Given the description of an element on the screen output the (x, y) to click on. 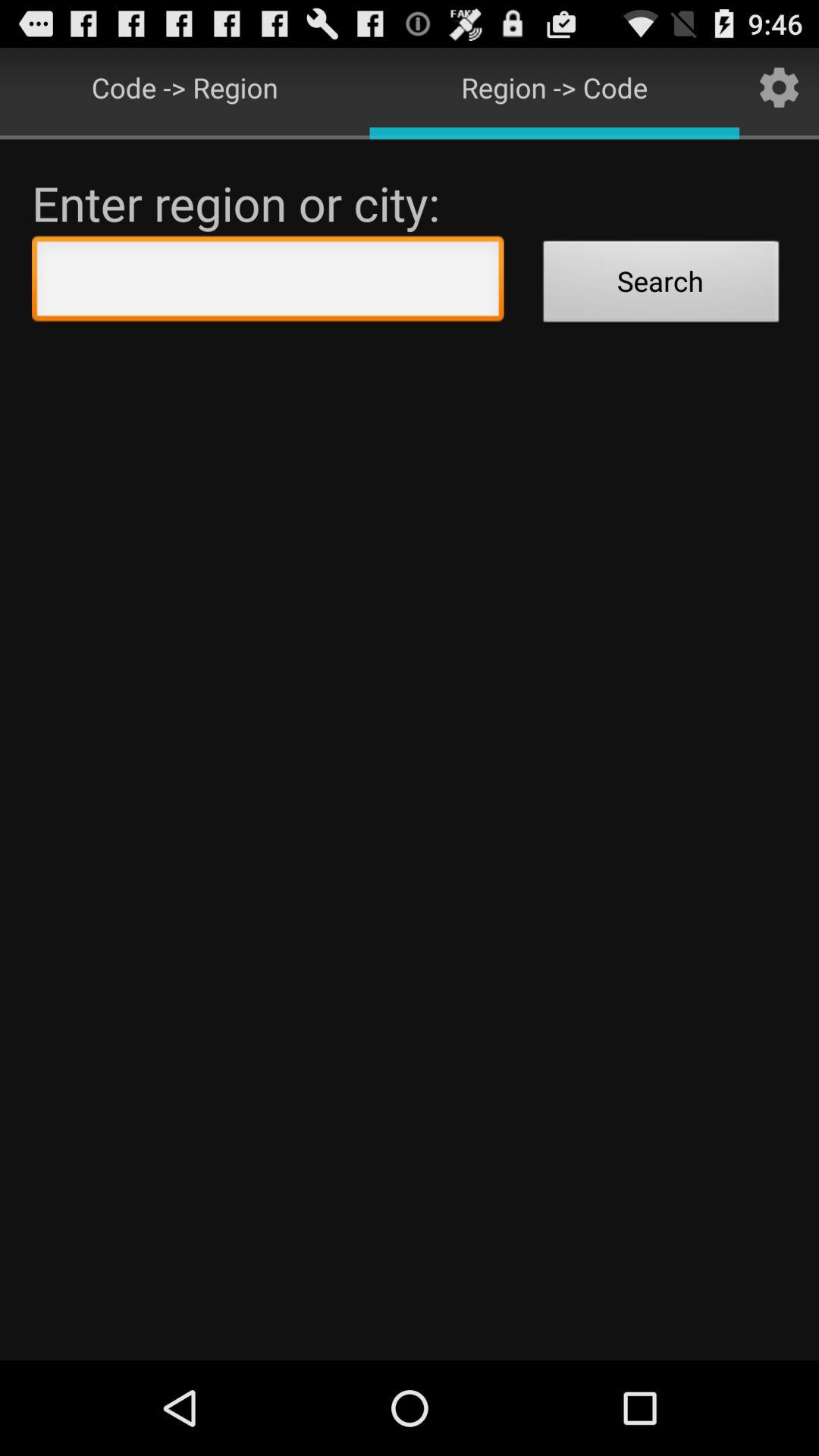
launch the icon to the left of search (267, 282)
